Given the description of an element on the screen output the (x, y) to click on. 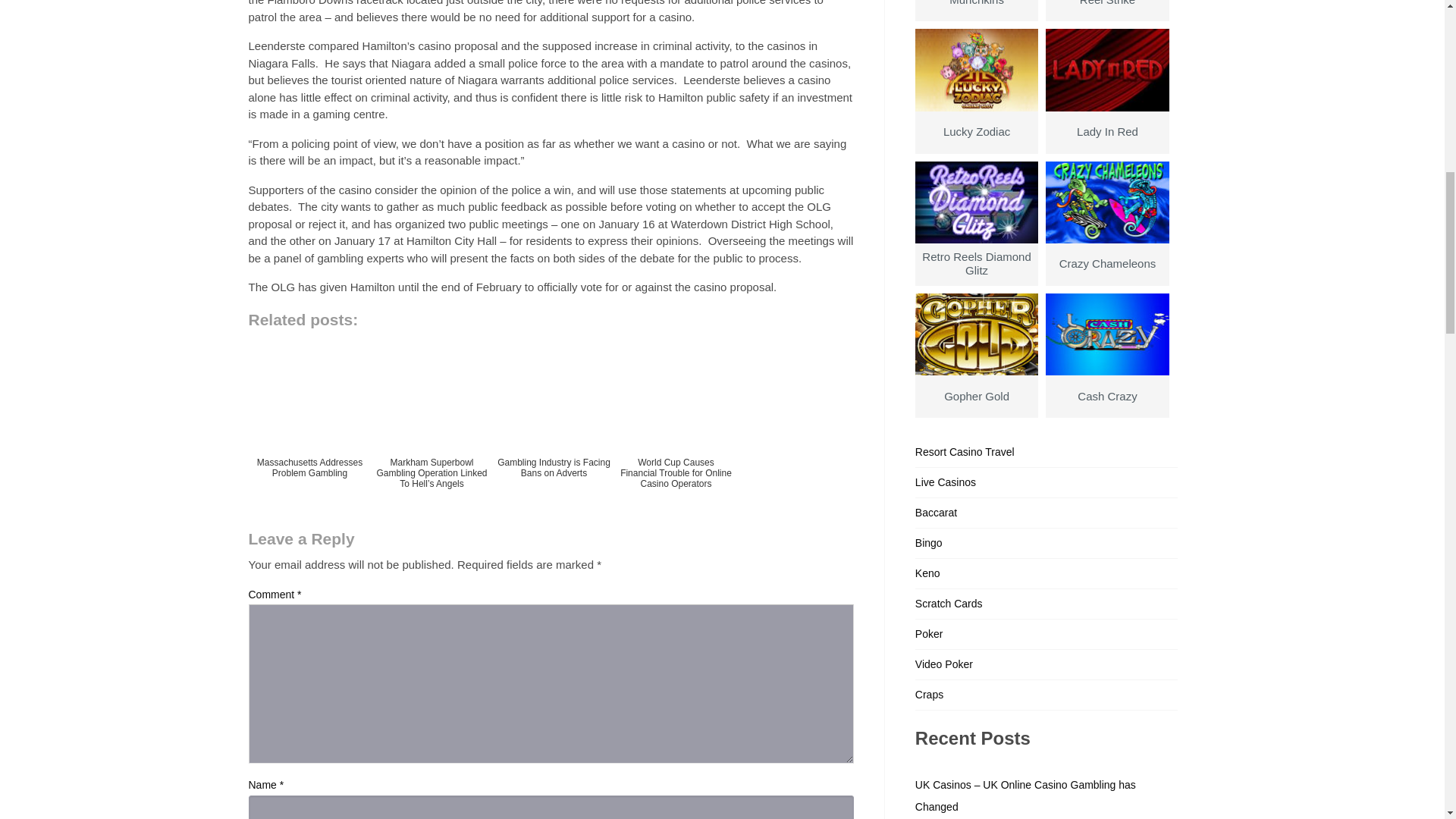
Reel Strike (1107, 10)
Munchkins (976, 10)
